Given the description of an element on the screen output the (x, y) to click on. 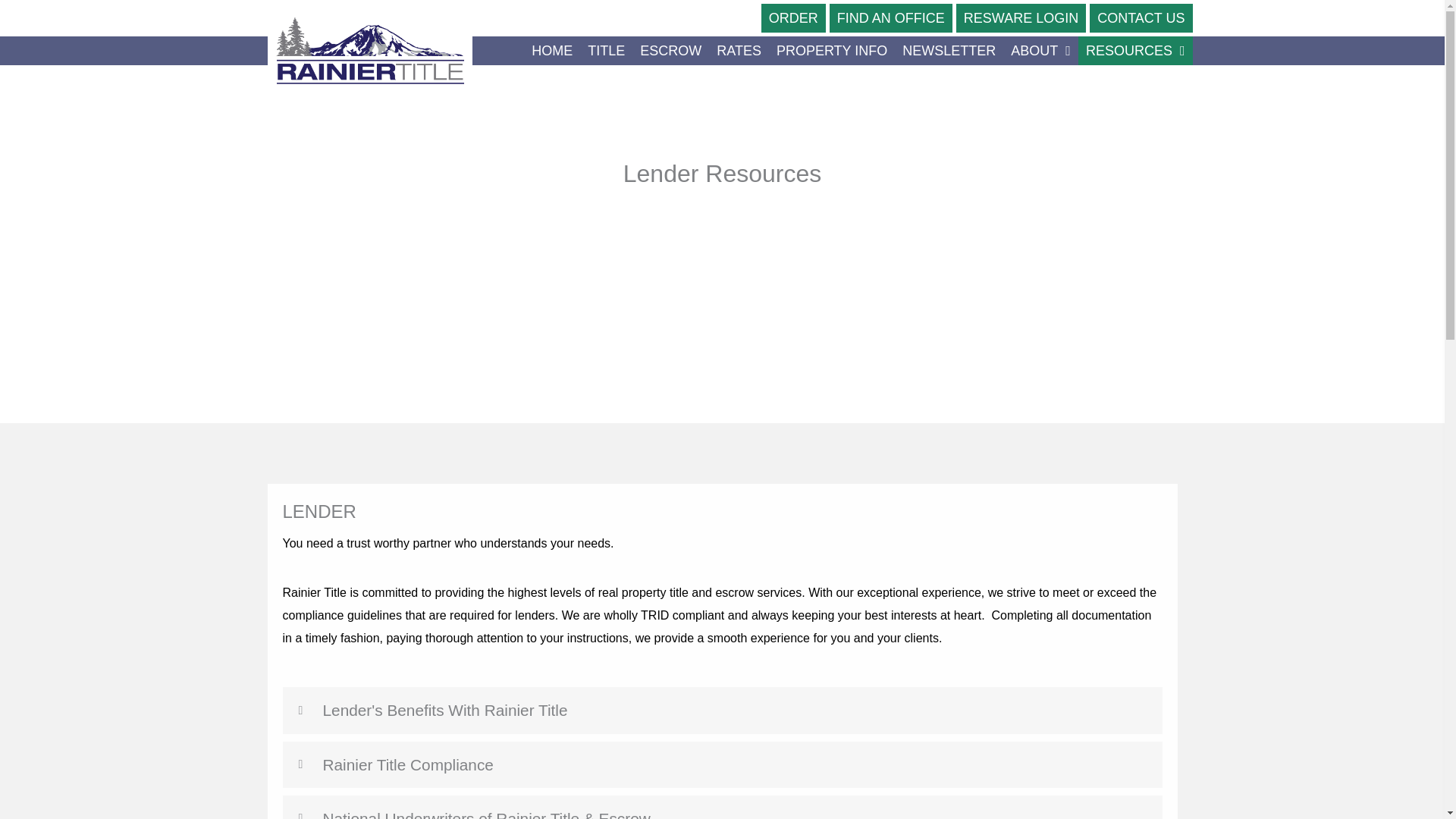
RATES (738, 50)
ABOUT (1040, 50)
FIND AN OFFICE (890, 18)
ESCROW (670, 50)
TITLE (605, 50)
ORDER (793, 18)
NEWSLETTER (949, 50)
PROPERTY INFO (831, 50)
RESOURCES (1135, 50)
Rainier-Title-logo-2021 (368, 50)
CONTACT US (1140, 18)
RESWARE LOGIN (1021, 18)
HOME (551, 50)
